Given the description of an element on the screen output the (x, y) to click on. 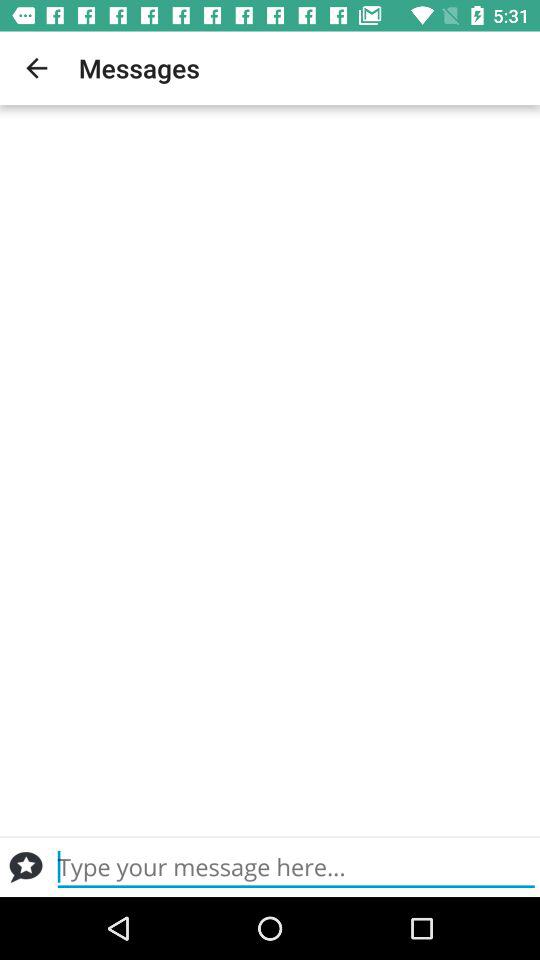
view emotes (26, 867)
